Given the description of an element on the screen output the (x, y) to click on. 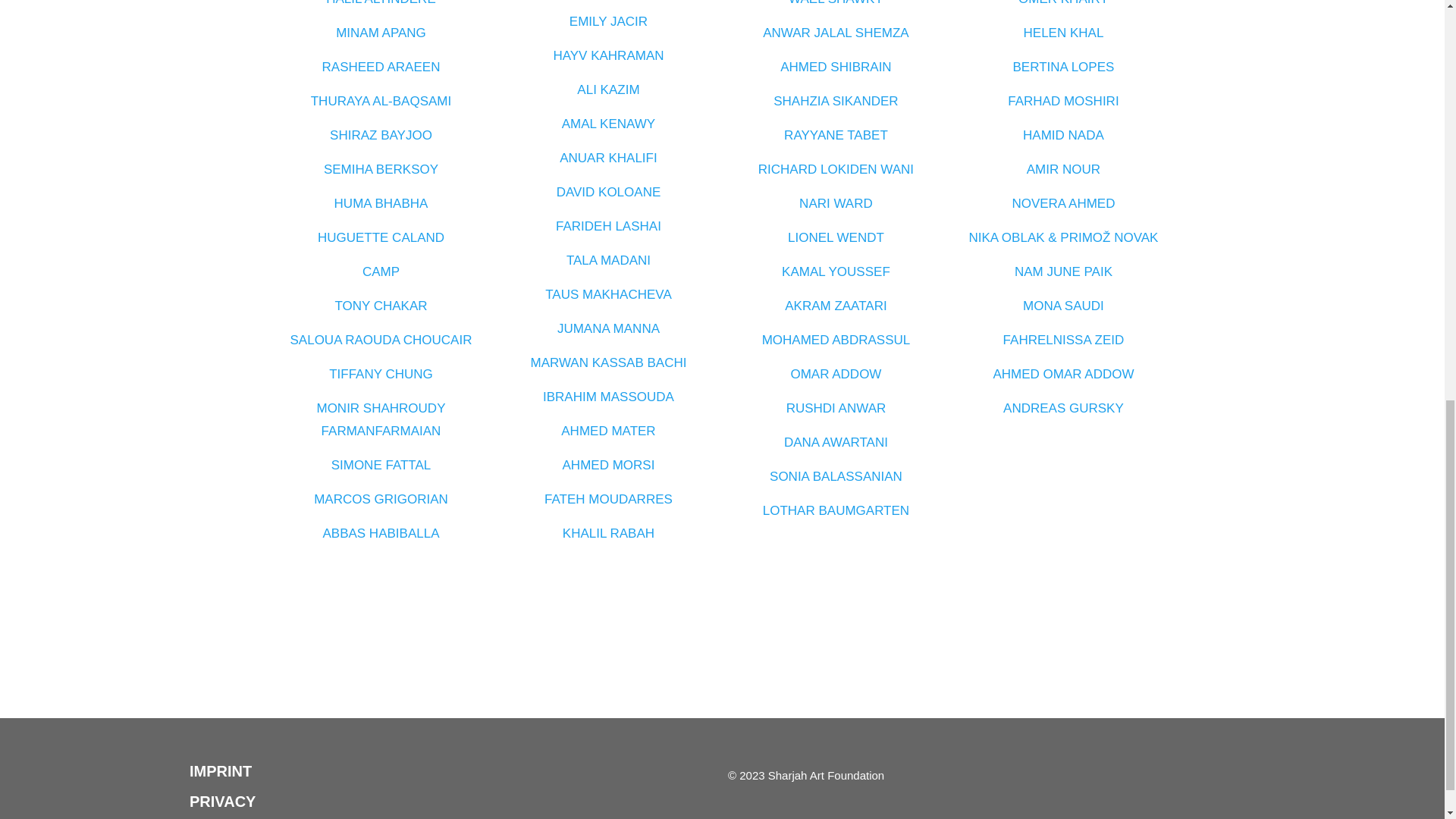
SALOUA RAOUDA CHOUCAIR (380, 339)
SIMONE FATTAL (380, 464)
MARCOS GRIGORIAN (381, 499)
TONY CHAKAR (380, 305)
THURAYA AL-BAQSAMI (381, 101)
MINAM APANG (381, 32)
SHIRAZ BAYJOO (381, 134)
HUGUETTE CALAND (380, 237)
TIFFANY CHUNG (380, 373)
CAMP (380, 271)
RASHEED ARAEEN (381, 66)
HALIL ALTINDERE (380, 2)
SEMIHA BERKSOY (380, 169)
ABBAS HABIBALLA (380, 533)
MONIR SHAHROUDY FARMANFARMAIAN (380, 419)
